Given the description of an element on the screen output the (x, y) to click on. 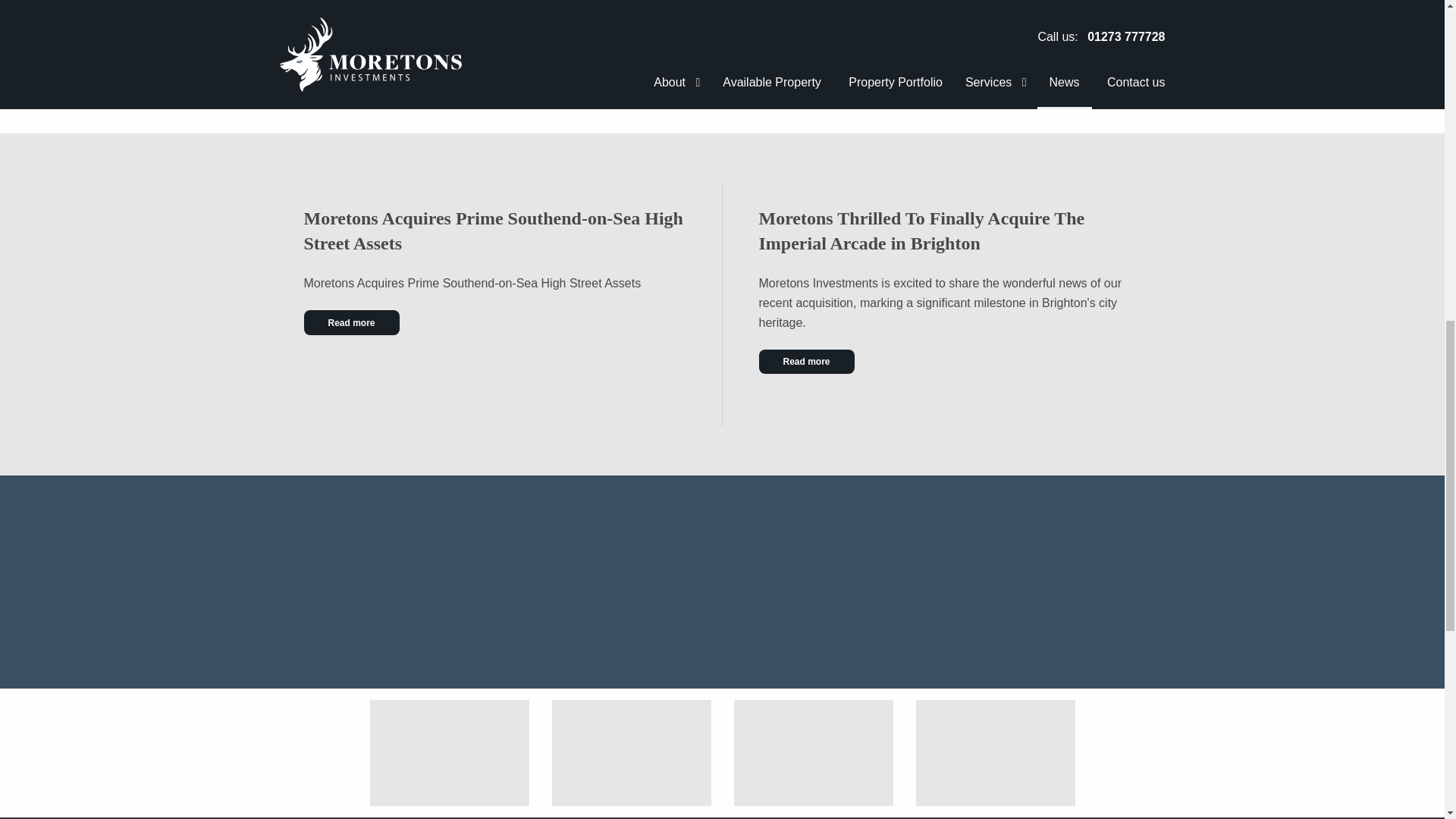
Read more (350, 322)
Read more (805, 361)
